Given the description of an element on the screen output the (x, y) to click on. 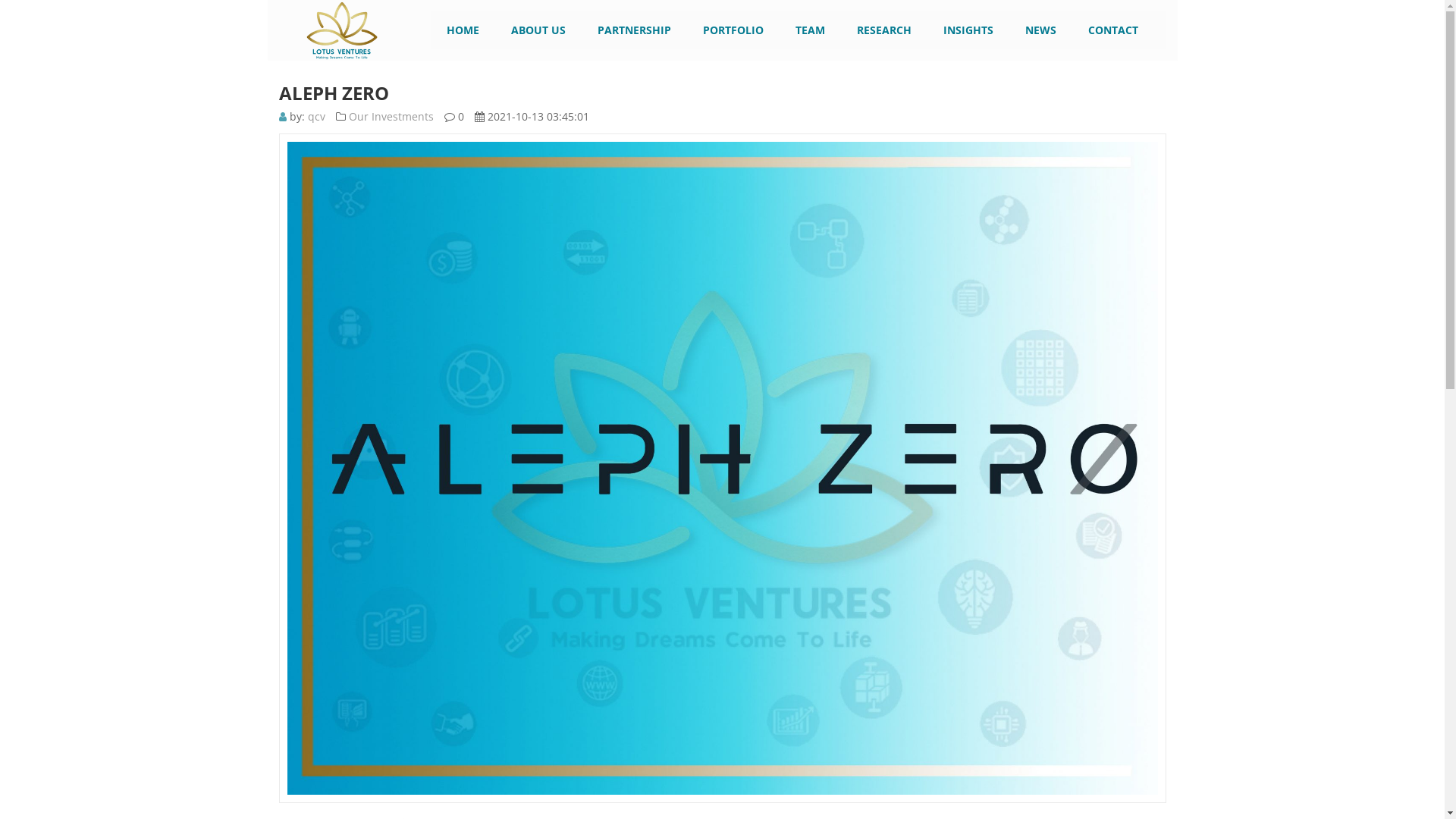
CONTACT Element type: text (1112, 29)
TEAM Element type: text (809, 29)
Our Investments Element type: text (390, 116)
NEWS Element type: text (1040, 29)
HOME Element type: text (461, 29)
INSIGHTS Element type: text (968, 29)
RESEARCH Element type: text (883, 29)
ABOUT US Element type: text (537, 29)
PORTFOLIO Element type: text (732, 29)
qcv Element type: text (316, 116)
PARTNERSHIP Element type: text (634, 29)
